Given the description of an element on the screen output the (x, y) to click on. 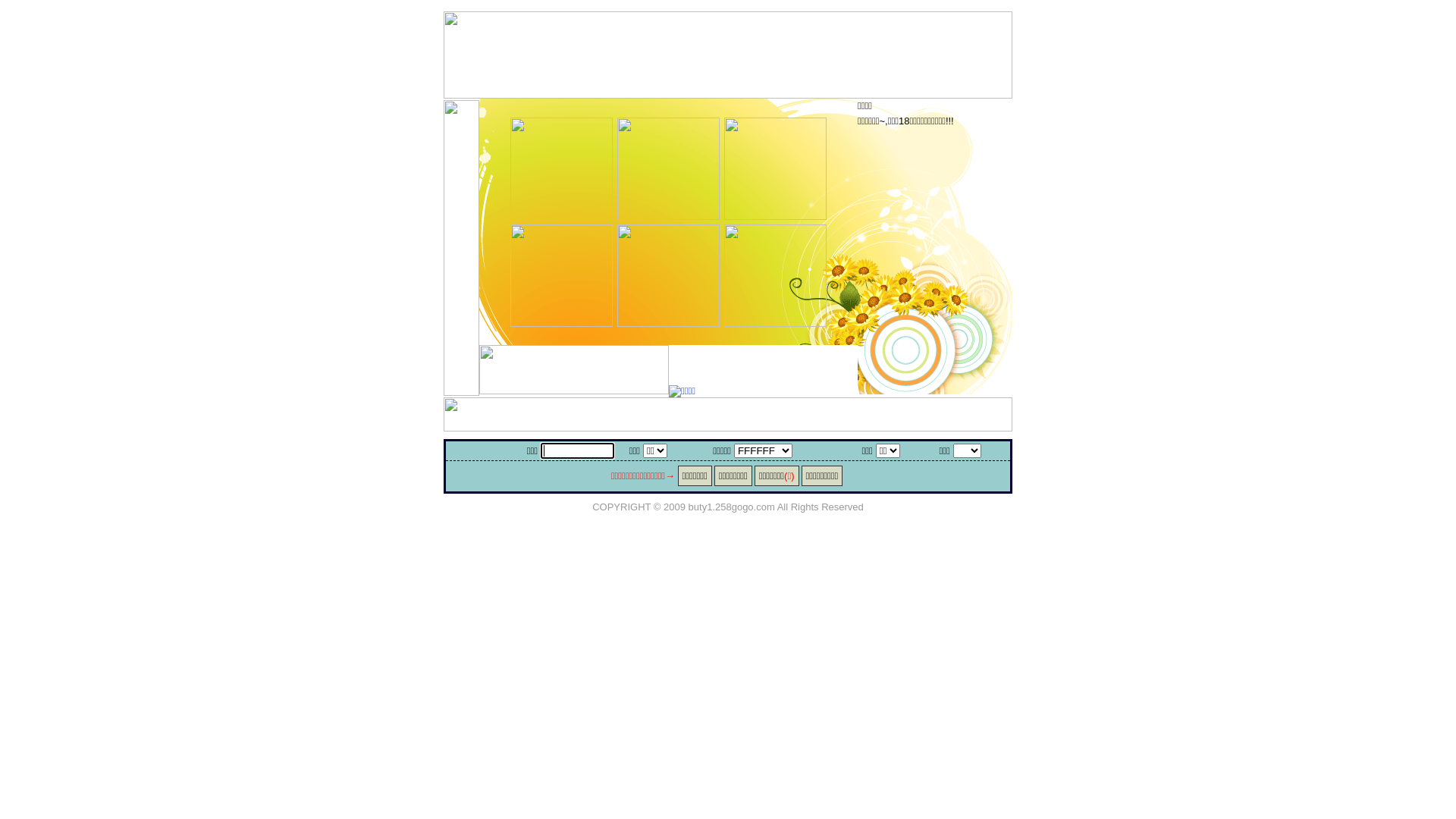
buty1.258gogo.com Element type: text (731, 505)
